Given the description of an element on the screen output the (x, y) to click on. 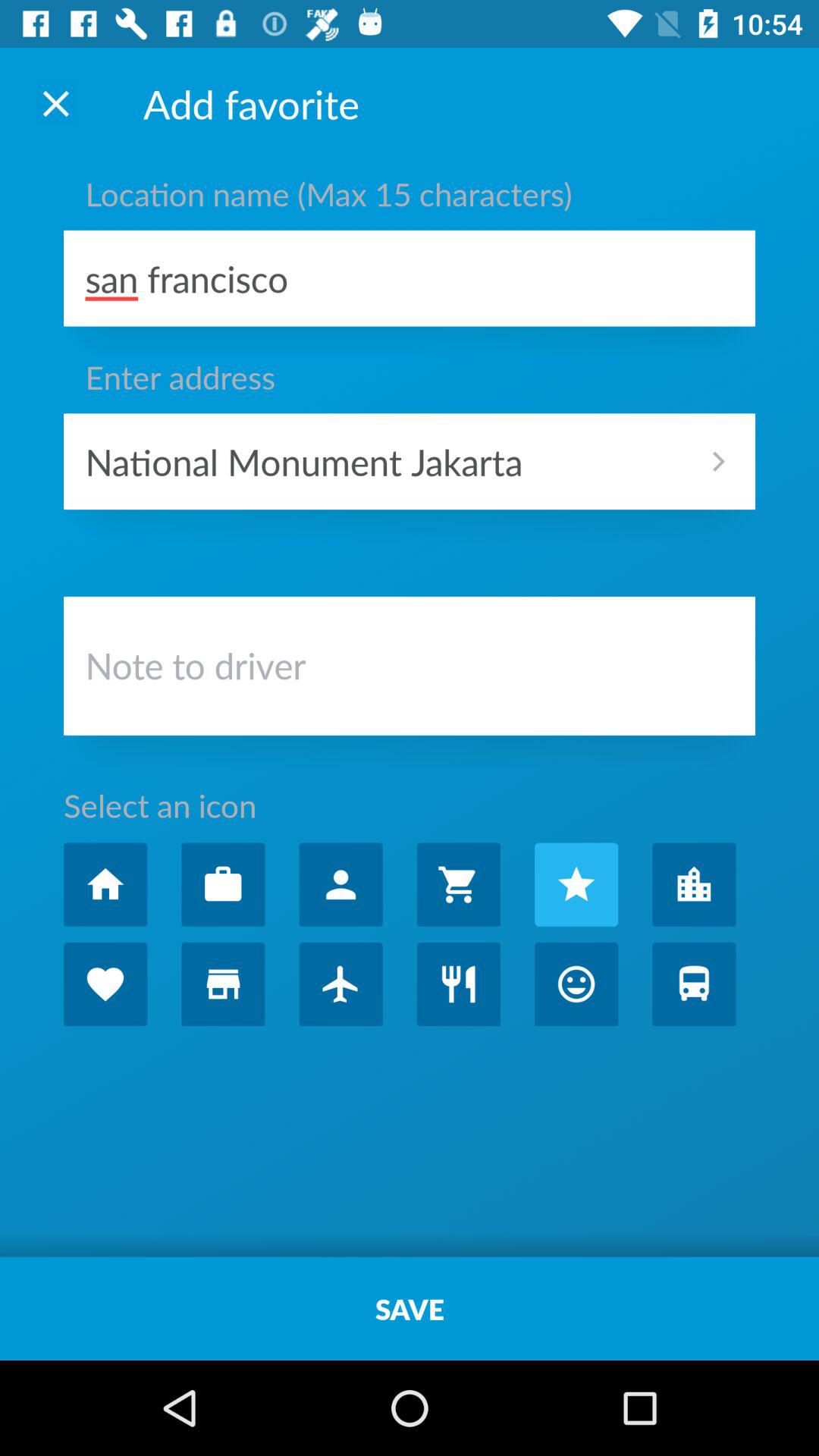
click home button (105, 884)
